Given the description of an element on the screen output the (x, y) to click on. 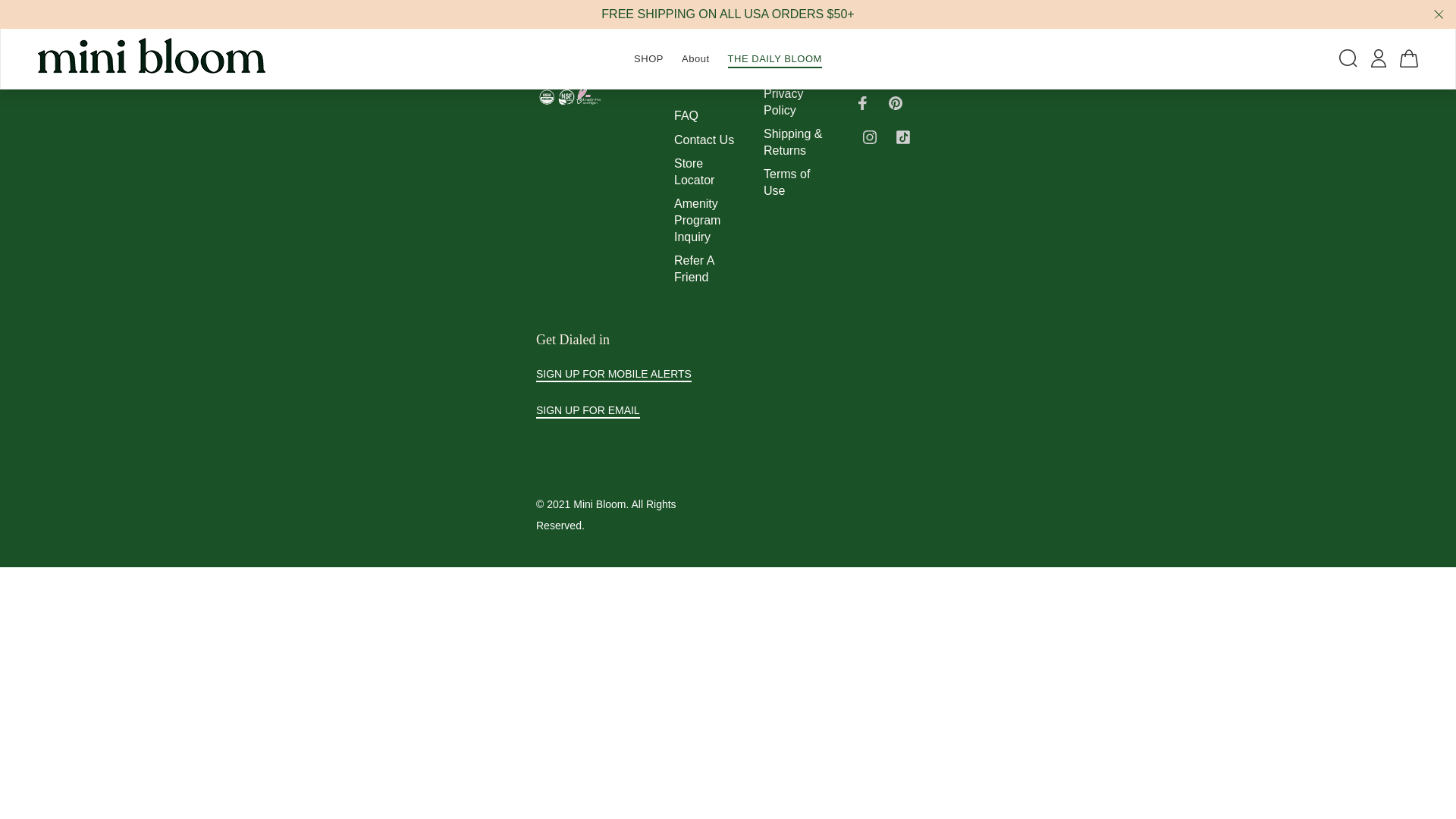
THE DAILY BLOOM (770, 58)
